Given the description of an element on the screen output the (x, y) to click on. 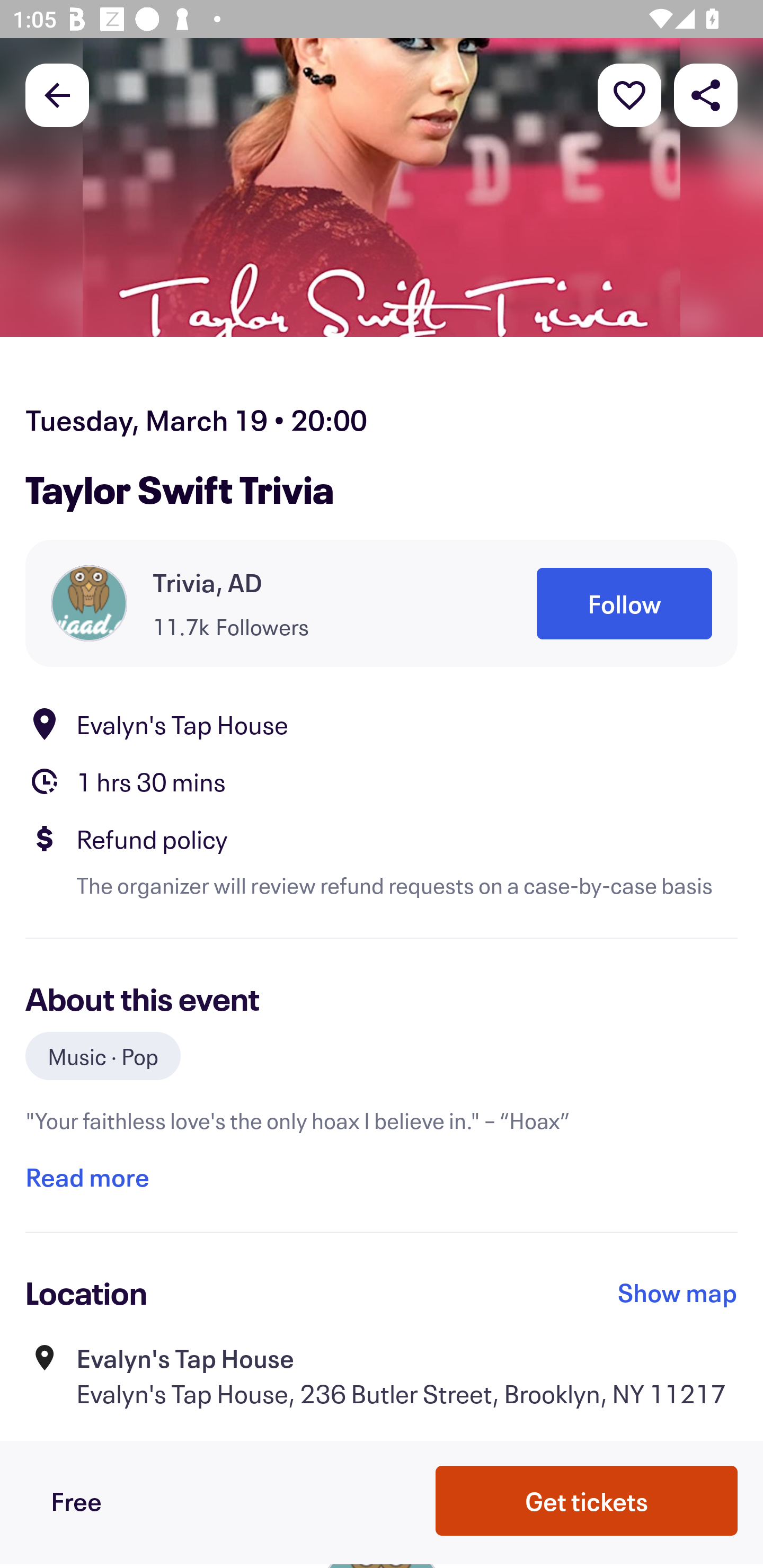
Back (57, 94)
More (629, 94)
Share (705, 94)
Trivia, AD (207, 582)
Organizer profile picture (89, 602)
Follow (623, 603)
Location Evalyn's Tap House (381, 724)
Read more (87, 1176)
Show map (677, 1292)
Get tickets (586, 1500)
